Given the description of an element on the screen output the (x, y) to click on. 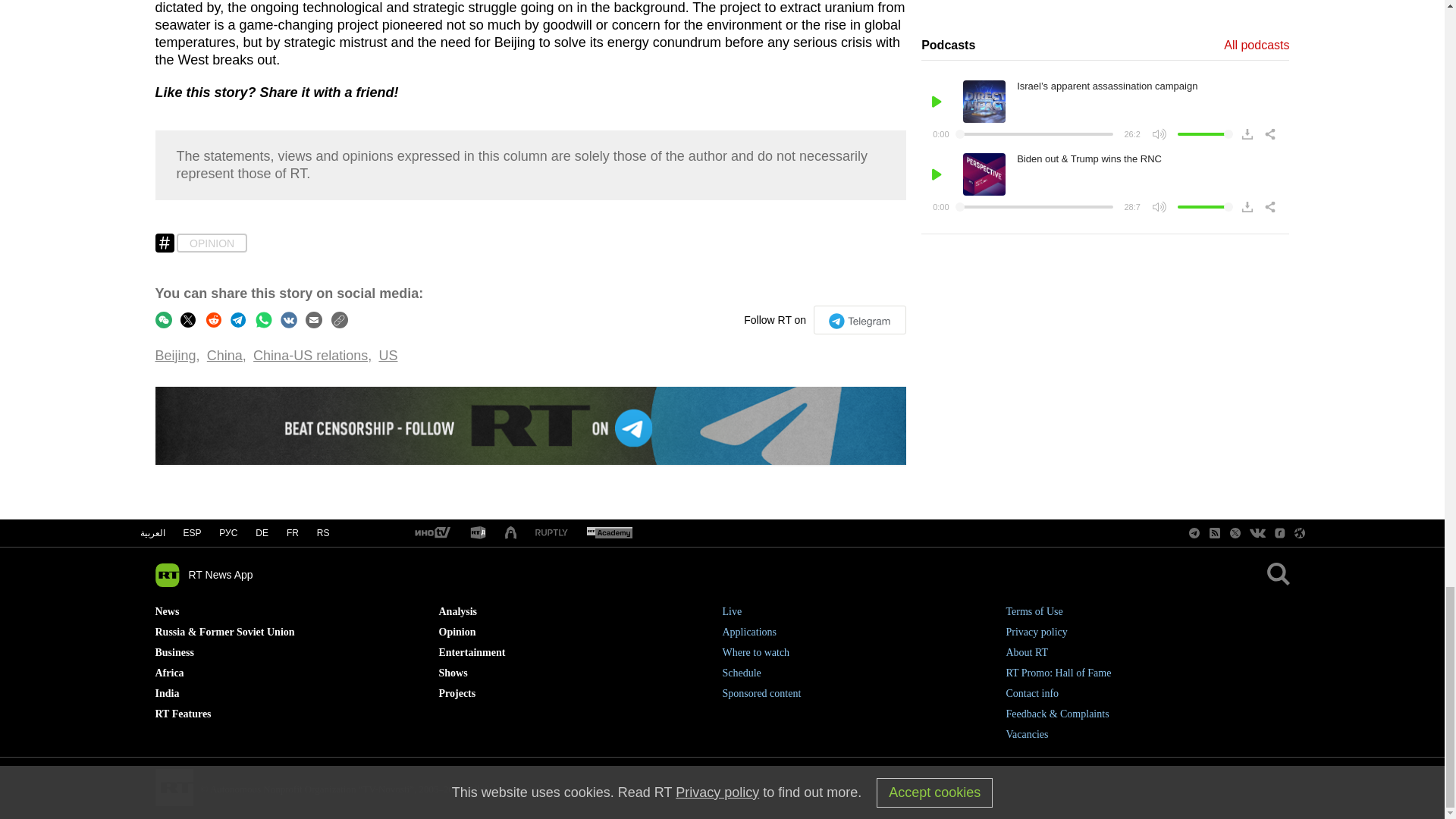
RT  (551, 533)
RT  (478, 533)
RT  (431, 533)
RT  (608, 533)
